Given the description of an element on the screen output the (x, y) to click on. 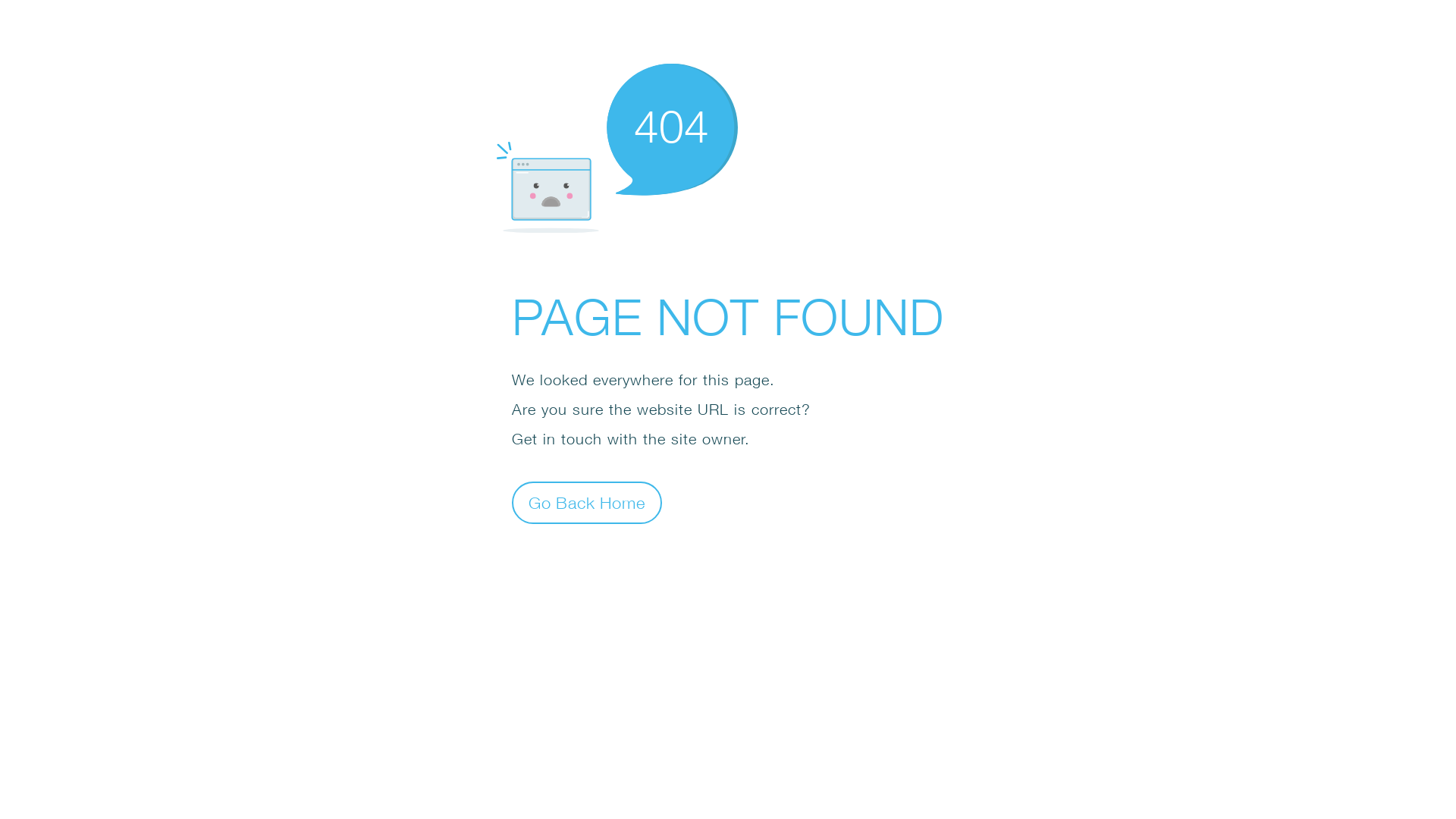
Go Back Home Element type: text (586, 502)
